Given the description of an element on the screen output the (x, y) to click on. 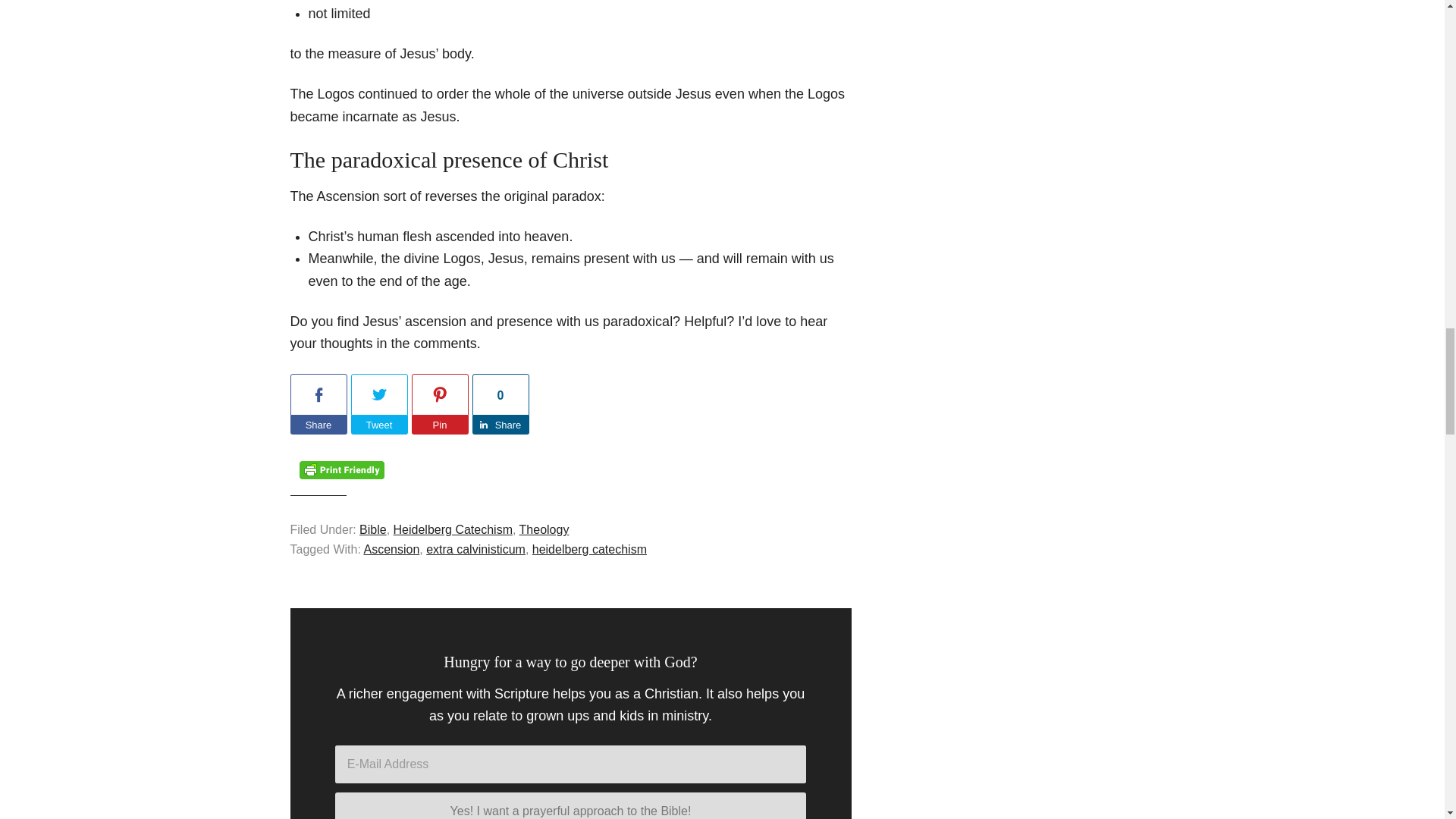
Theology (544, 529)
Share (499, 424)
Share (317, 424)
Tweet (378, 424)
Pin (438, 424)
Bible (373, 529)
Heidelberg Catechism (452, 529)
0 (499, 394)
Yes! I want a prayerful approach to the Bible! (570, 805)
